Given the description of an element on the screen output the (x, y) to click on. 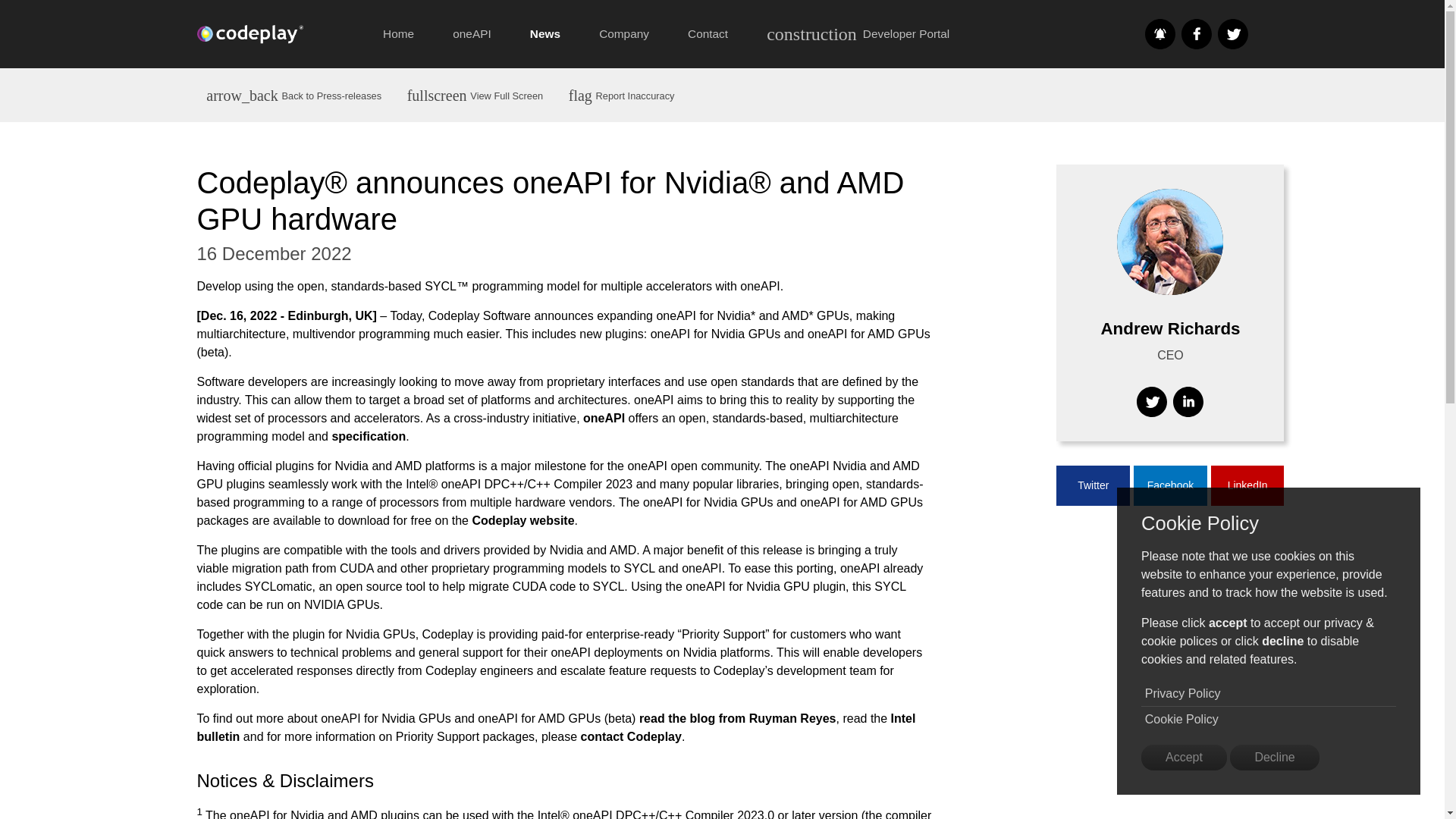
Home (398, 33)
Visit Our Facebook (1195, 33)
News (545, 33)
flagReport Inaccuracy (621, 94)
Decline (1274, 757)
specification (368, 436)
Intel bulletin (555, 726)
Contact (708, 33)
Visit our Twitter (1232, 33)
Subscribe To Newsletter (1159, 33)
